Given the description of an element on the screen output the (x, y) to click on. 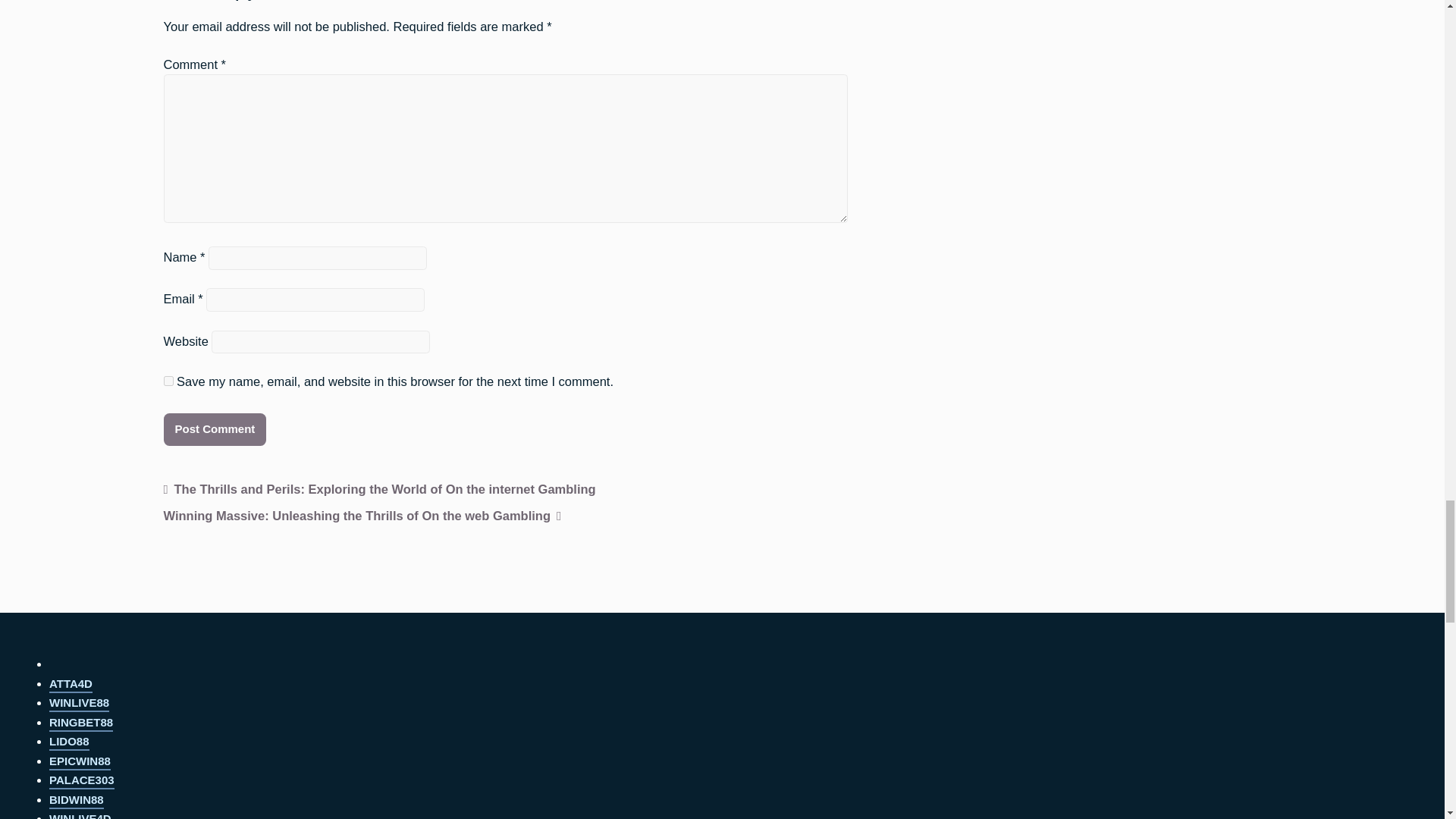
ATTA4D (71, 684)
Post Comment (214, 429)
PALACE303 (82, 781)
Post Comment (214, 429)
BIDWIN88 (76, 801)
WINLIVE88 (79, 703)
LIDO88 (68, 742)
WINLIVE4D (80, 815)
yes (168, 380)
RINGBET88 (81, 723)
EPICWIN88 (79, 762)
